Given the description of an element on the screen output the (x, y) to click on. 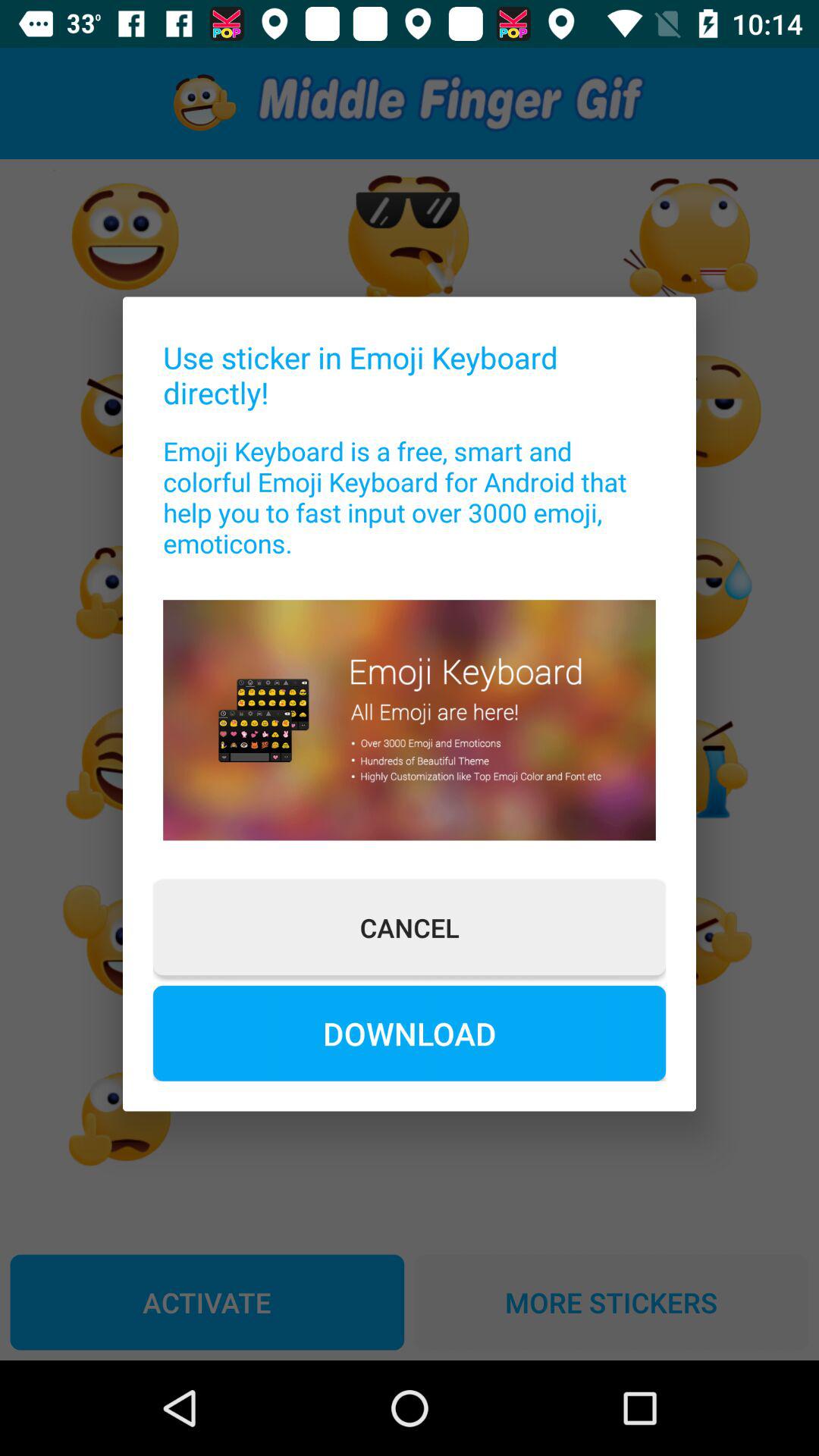
open icon above the download item (409, 927)
